Given the description of an element on the screen output the (x, y) to click on. 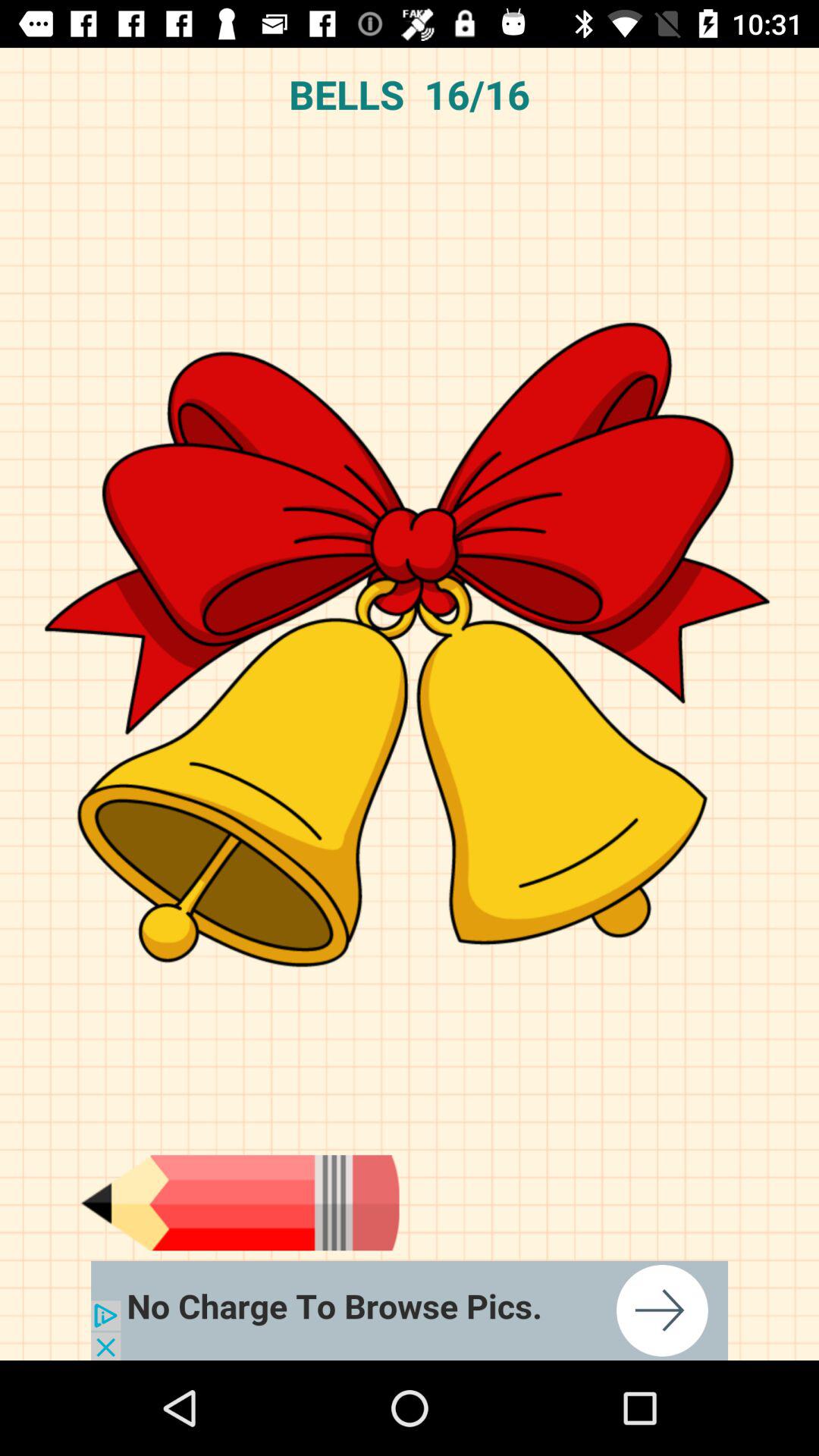
use the pencil (239, 1202)
